Given the description of an element on the screen output the (x, y) to click on. 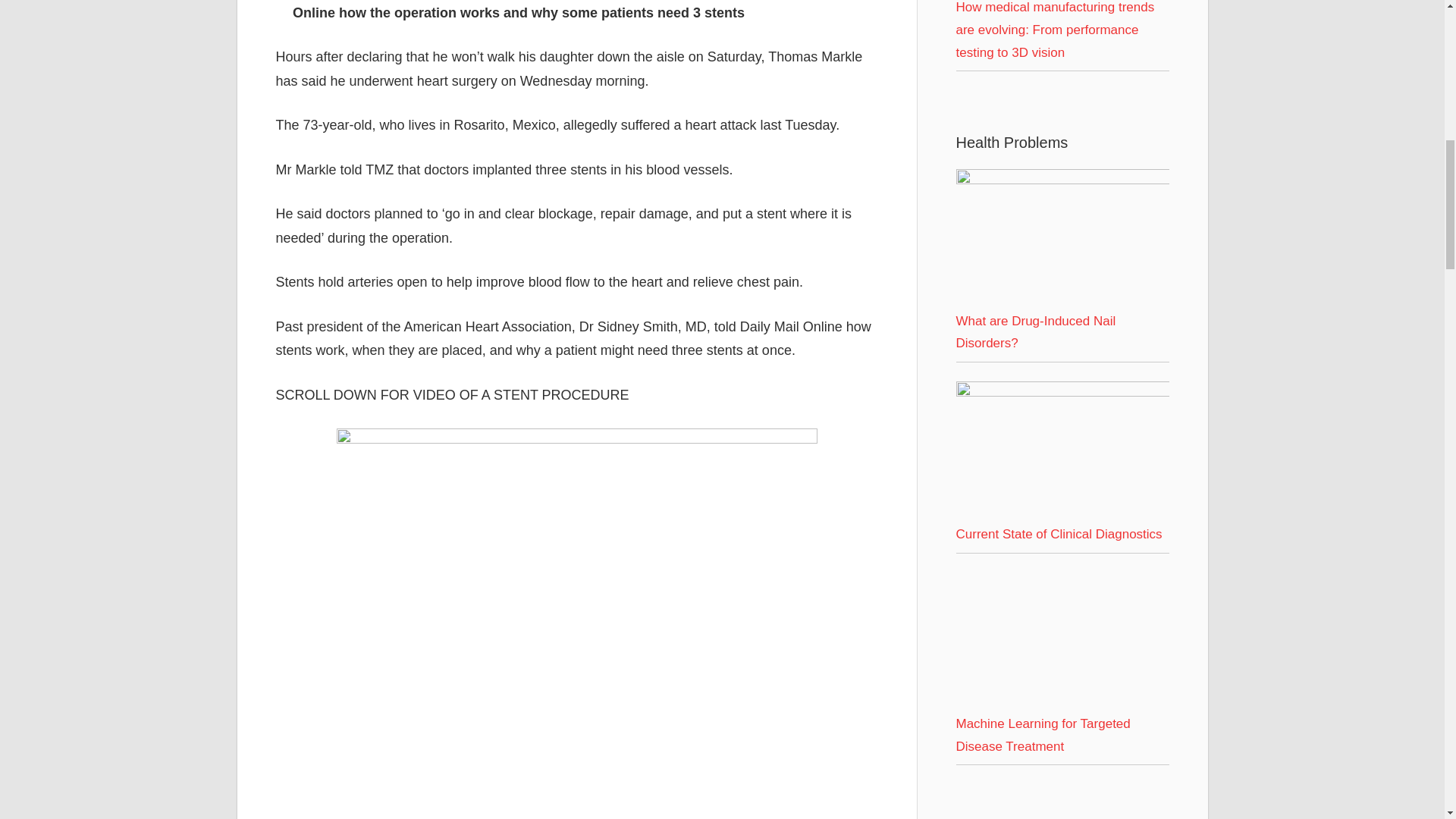
What are Drug-Induced Nail Disorders? (1035, 332)
What are Drug-Induced Nail Disorders? (1062, 239)
Machine Learning for Targeted Disease Treatment (1042, 734)
Current State of Clinical Diagnostics (1062, 391)
Machine Learning for Targeted Disease Treatment (1062, 638)
Machine Learning for Targeted Disease Treatment (1062, 701)
Current State of Clinical Diagnostics (1058, 534)
Current State of Clinical Diagnostics (1062, 452)
What are Drug-Induced Nail Disorders? (1062, 179)
